Given the description of an element on the screen output the (x, y) to click on. 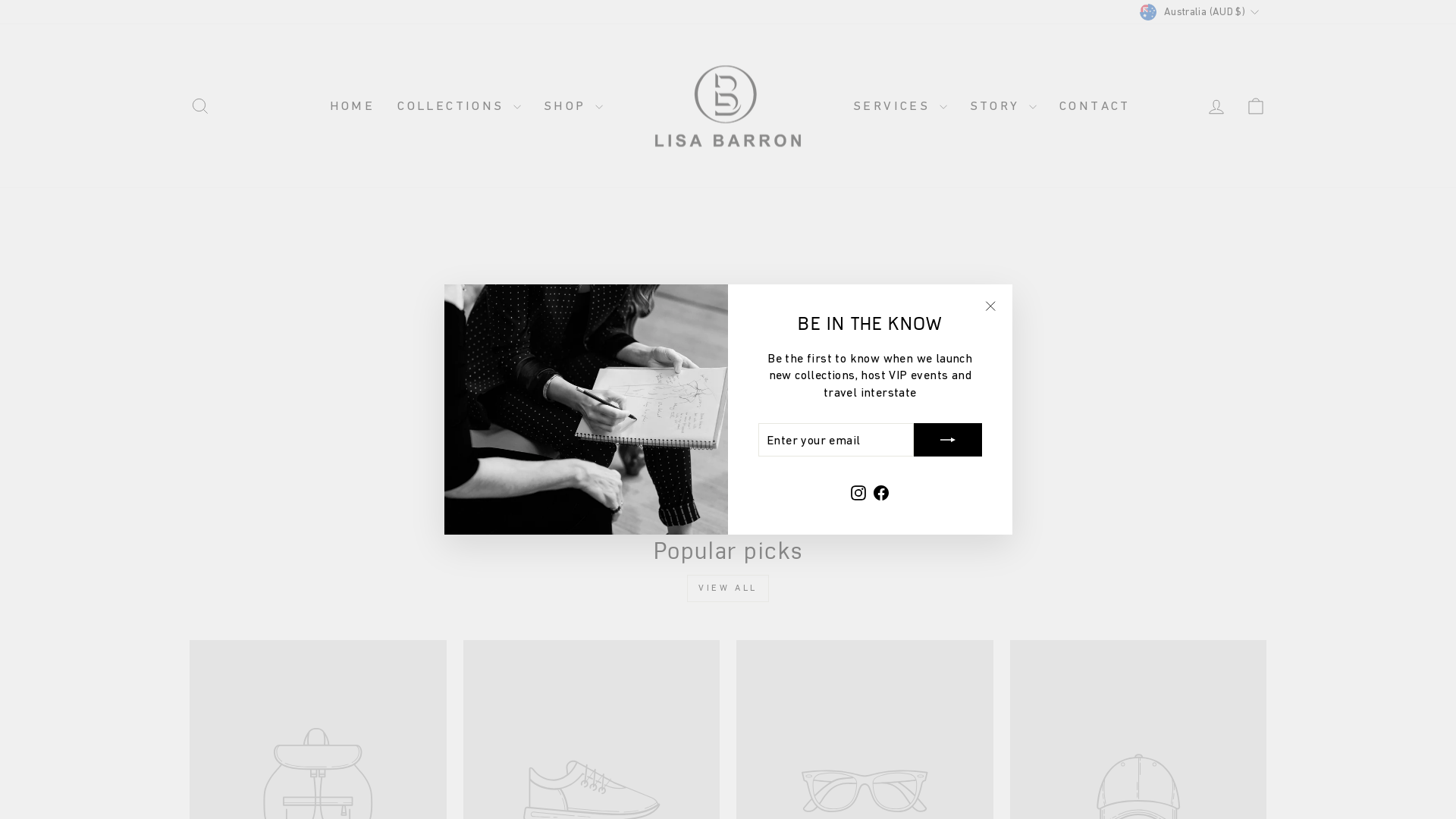
VIEW ALL Element type: text (727, 587)
ICON-BAG-MINIMAL
CART Element type: text (1255, 105)
ACCOUNT
LOG IN Element type: text (1216, 105)
HOME Element type: text (352, 106)
icon-X
"Close (esc)" Element type: text (989, 305)
ICON-SEARCH
SEARCH Element type: text (199, 105)
Instagram Element type: text (858, 491)
CONTACT Element type: text (1095, 106)
Facebook Element type: text (880, 491)
Australia (AUD $) Element type: text (1200, 12)
Continue shopping Element type: text (727, 376)
